Given the description of an element on the screen output the (x, y) to click on. 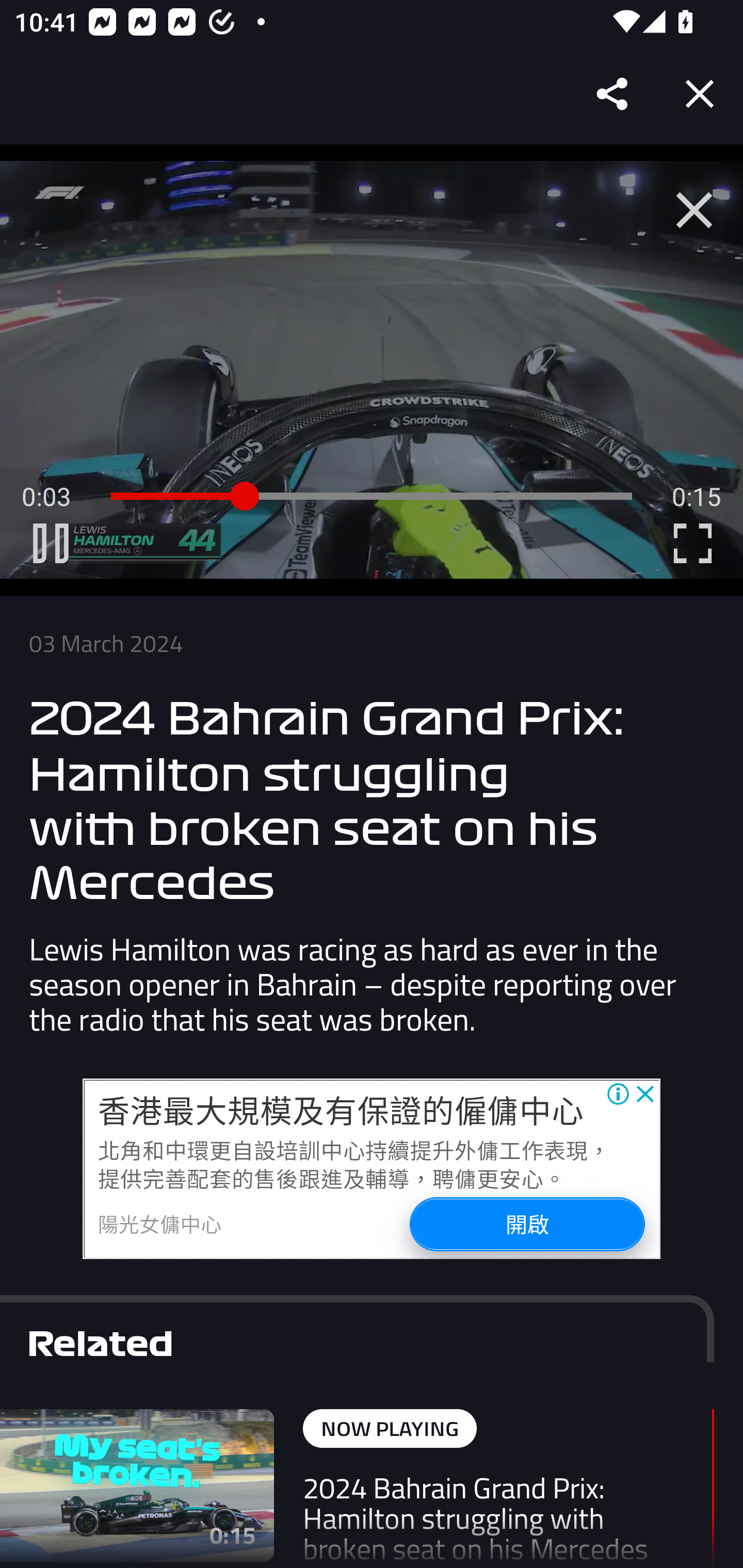
Share (612, 93)
Close (699, 93)
 Close (693, 210)
B Pause (50, 543)
C Enter Fullscreen (692, 543)
香港最大規模及有保證的僱傭中心 (340, 1109)
開啟 (526, 1222)
陽光女傭中心 (160, 1223)
